Given the description of an element on the screen output the (x, y) to click on. 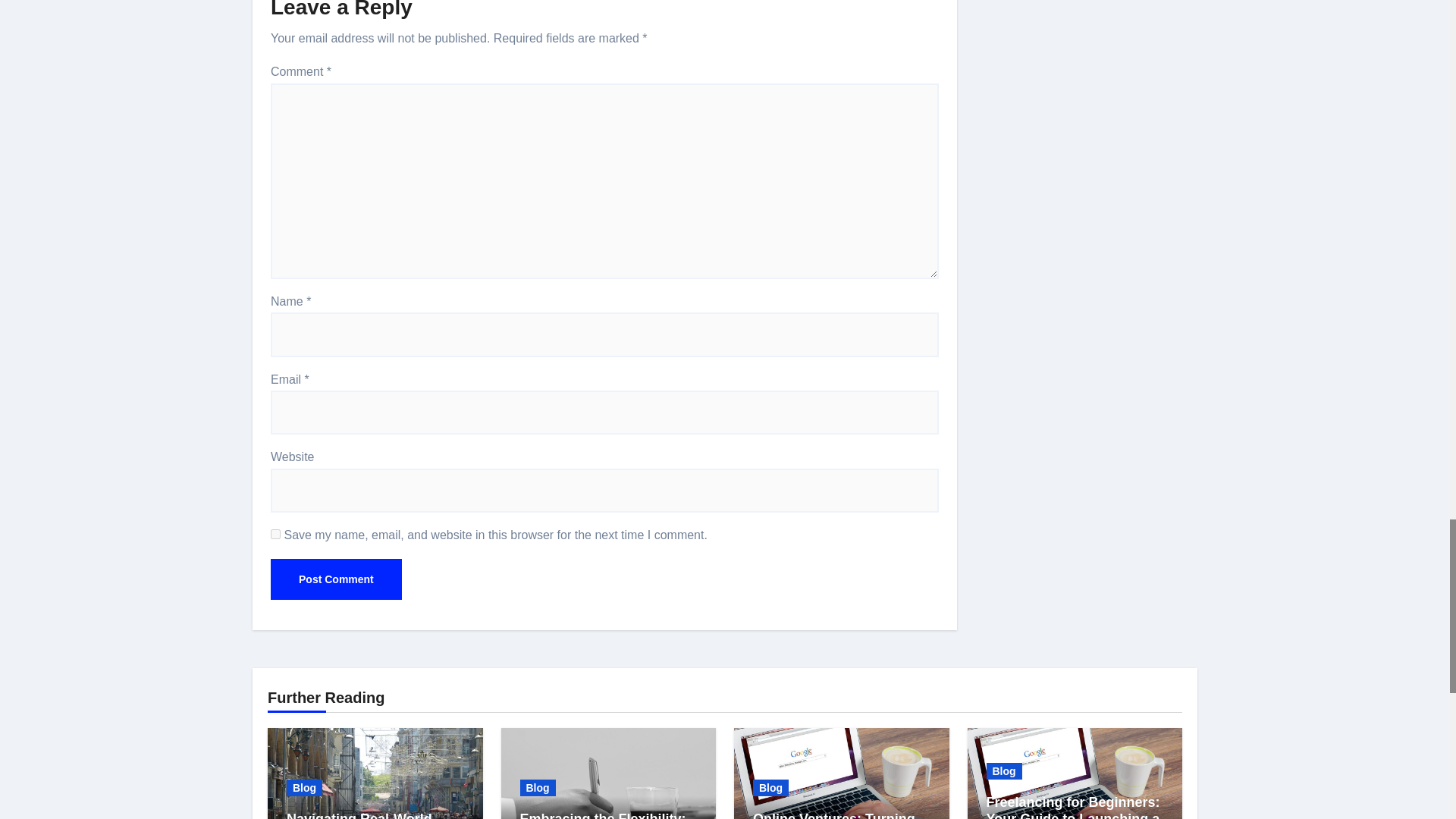
Post Comment (335, 578)
yes (275, 533)
